Given the description of an element on the screen output the (x, y) to click on. 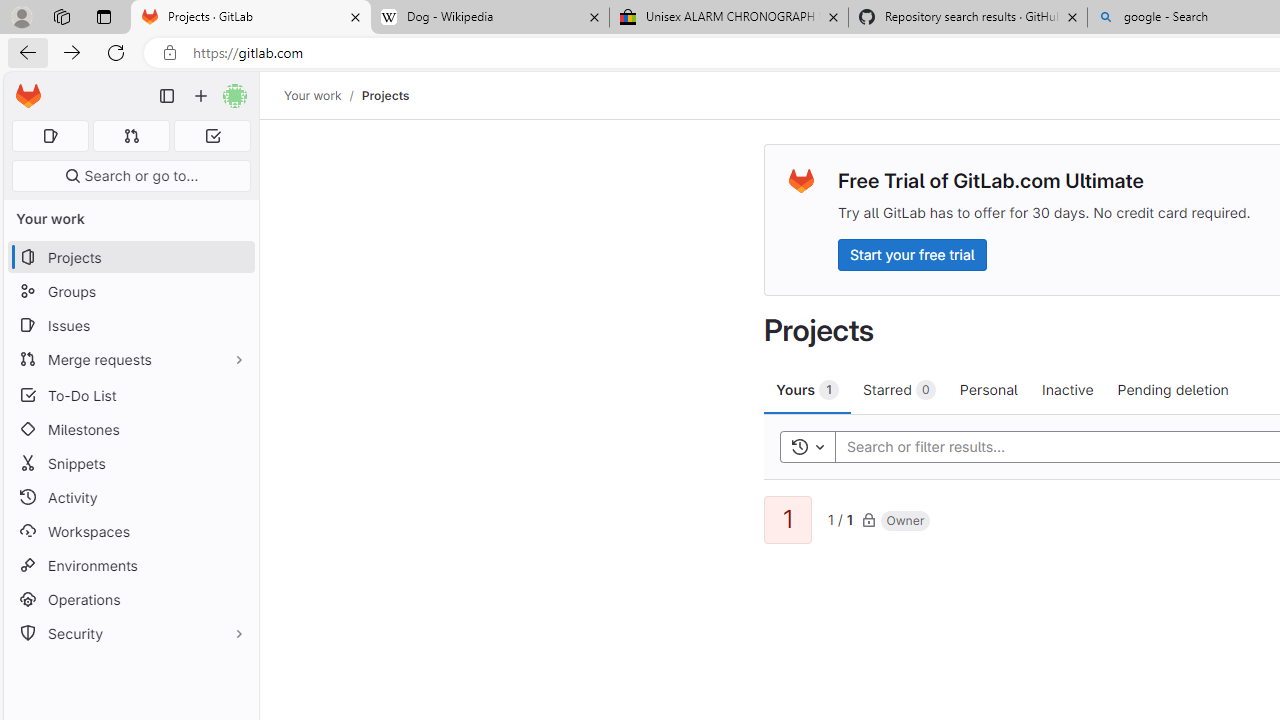
Merge requests (130, 358)
Merge requests (130, 358)
Yours 1 (808, 389)
Inactive (1067, 389)
Merge requests 0 (131, 136)
Snippets (130, 463)
Environments (130, 564)
Toggle history (807, 445)
Starred 0 (899, 389)
Your work/ (323, 95)
To-Do list 0 (212, 136)
